Given the description of an element on the screen output the (x, y) to click on. 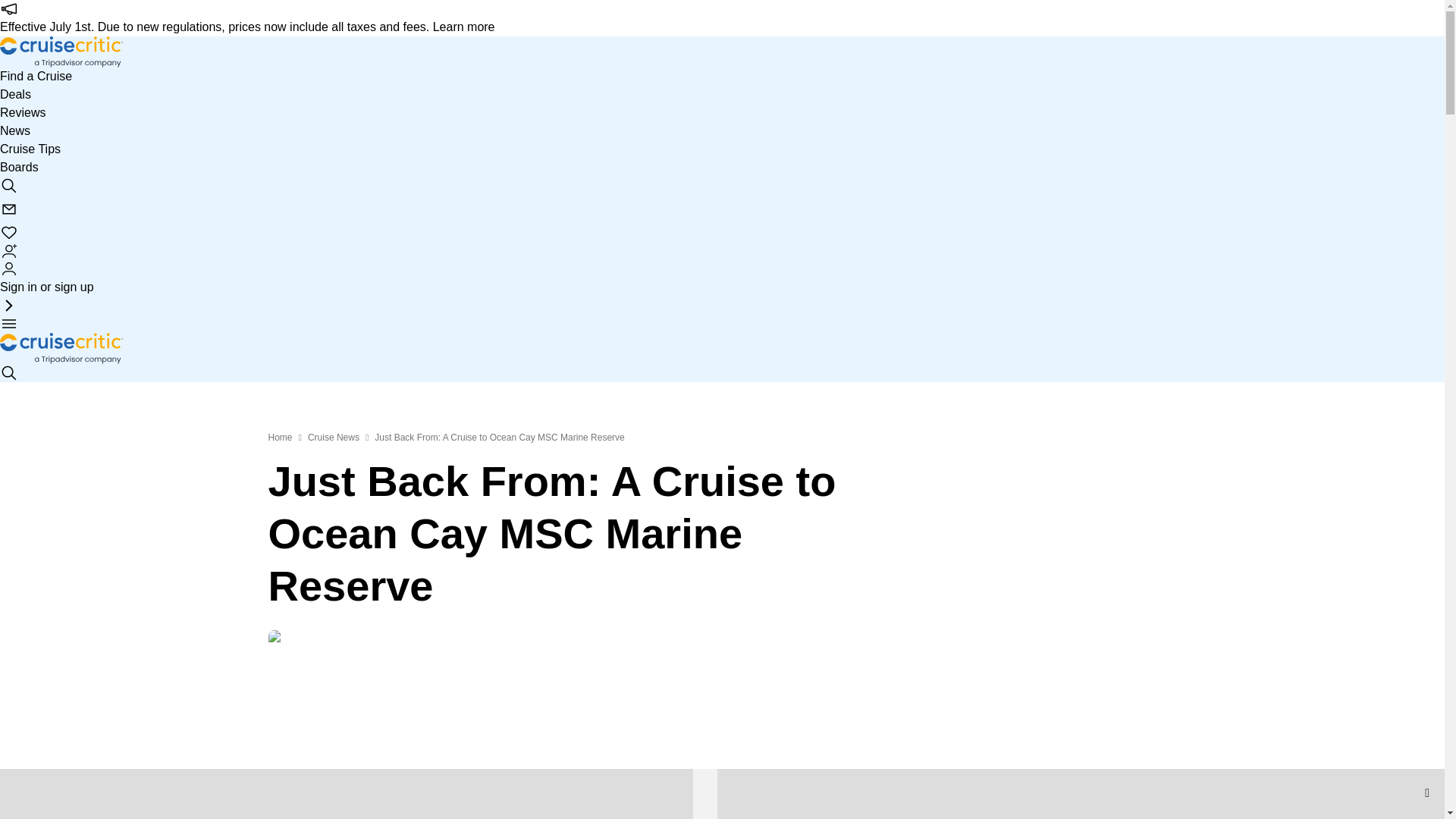
Cruise Tips (30, 149)
News (15, 130)
Deals (15, 94)
Boards (19, 166)
Home (279, 437)
Learn more (463, 26)
Sign in or sign up (47, 277)
Reviews (22, 113)
Cruise News (333, 437)
Find a Cruise (35, 75)
